Given the description of an element on the screen output the (x, y) to click on. 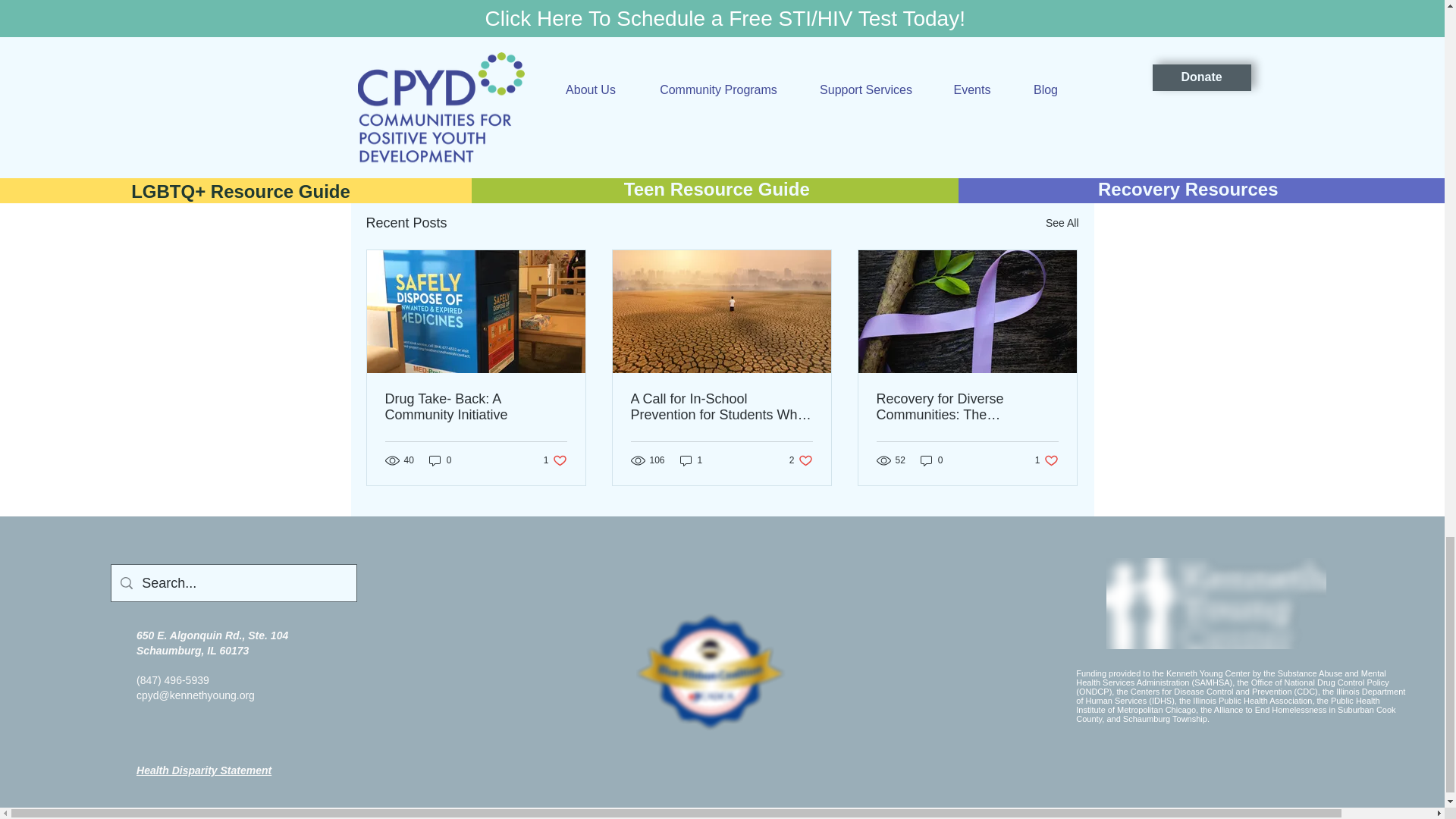
Sexual Health (911, 95)
See All (1061, 223)
Drug Take- Back: A Community Initiative (476, 407)
0 (440, 460)
Post not marked as liked (995, 140)
